Given the description of an element on the screen output the (x, y) to click on. 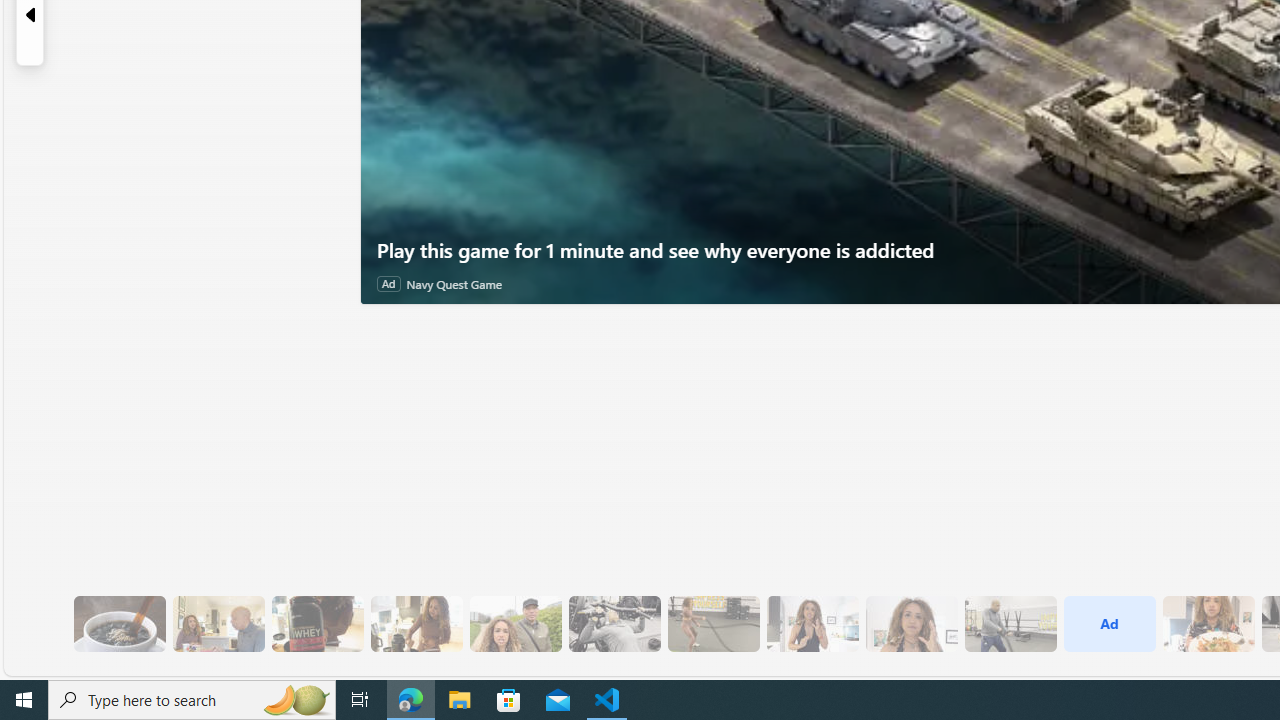
5 She Eats Less Than Her Husband (217, 624)
6 Since Eating More Protein Her Training Has Improved (317, 624)
9 They Do Bench Exercises (614, 624)
10 Then, They Do HIIT Cardio (713, 624)
11 They Eat More Protein for Breakfast (811, 624)
9 They Do Bench Exercises (614, 624)
13 Her Husband Does Group Cardio Classs (1010, 624)
10 Then, They Do HIIT Cardio (713, 624)
7 They Don't Skip Meals (416, 624)
Navy Quest Game (454, 283)
5 She Eats Less Than Her Husband (217, 624)
